Given the description of an element on the screen output the (x, y) to click on. 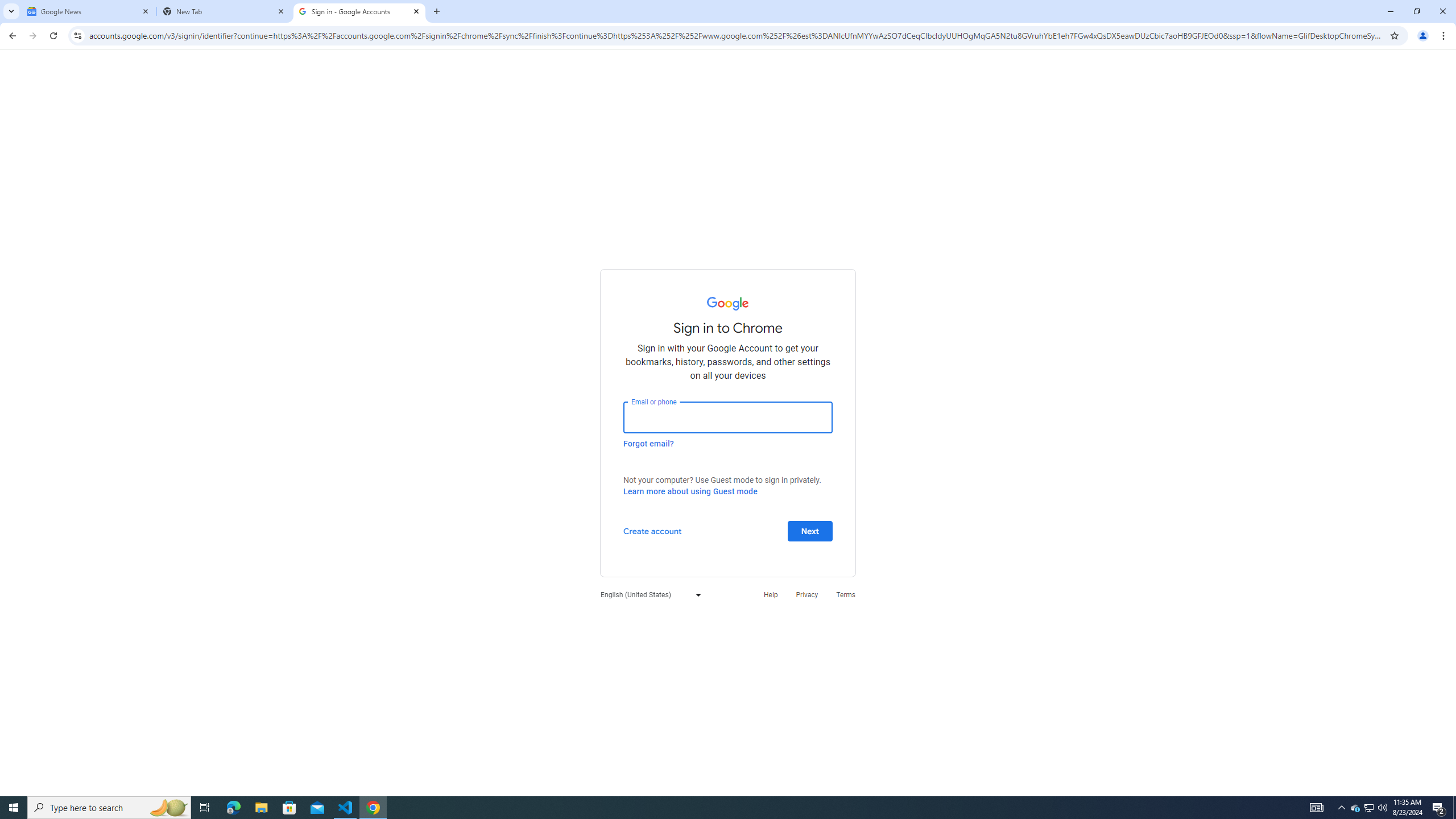
Forgot email? (648, 443)
Email or phone (727, 417)
English (United States) (647, 594)
Learn more about using Guest mode (689, 491)
Sign in - Google Accounts (359, 11)
